Given the description of an element on the screen output the (x, y) to click on. 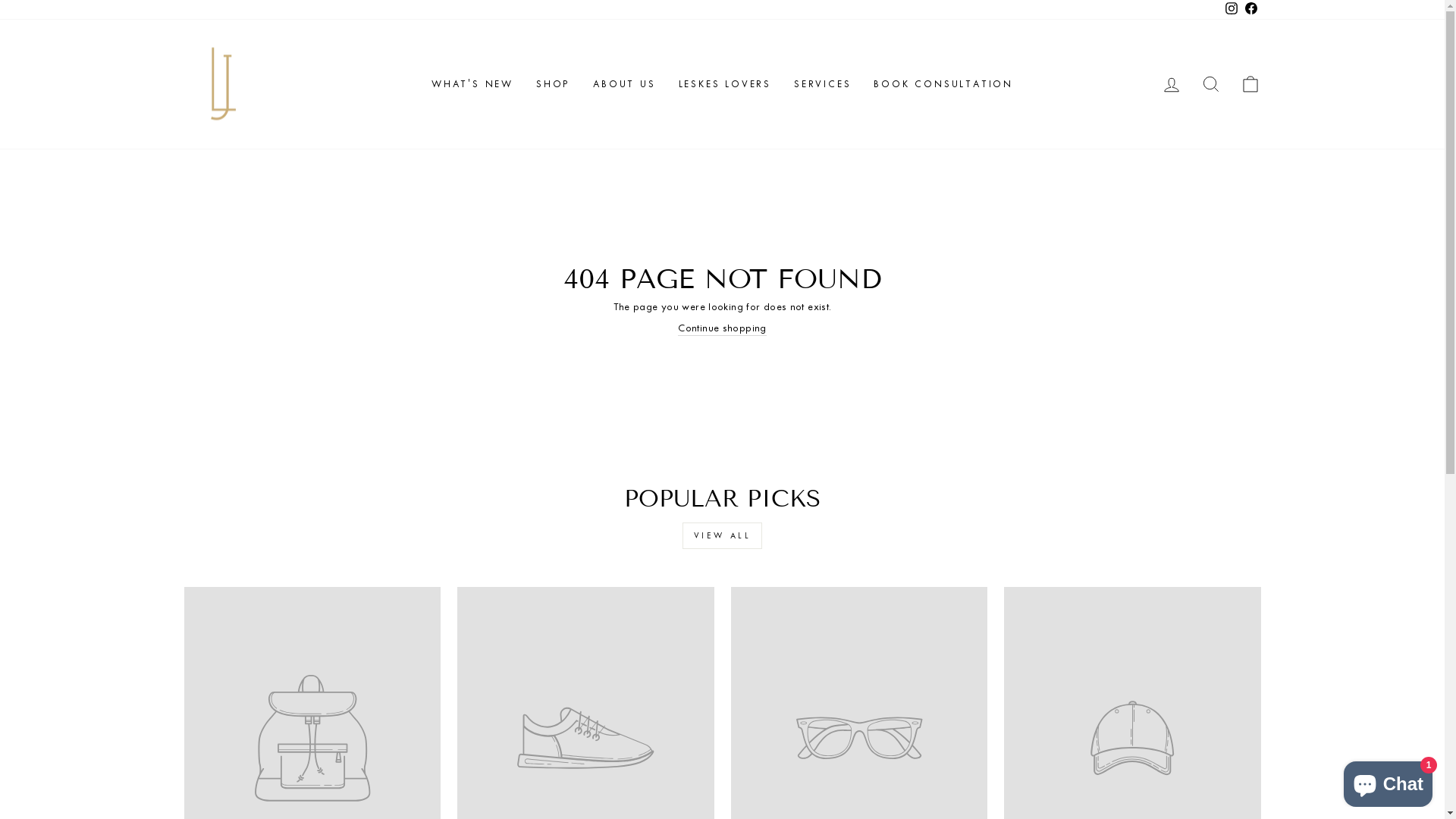
Shopify online store chat Element type: hover (1388, 780)
LESKES LOVERS Element type: text (724, 84)
Continue shopping Element type: text (721, 328)
SERVICES Element type: text (822, 84)
Instagram Element type: text (1230, 9)
BOOK CONSULTATION Element type: text (943, 84)
Facebook Element type: text (1250, 9)
SEARCH Element type: text (1210, 84)
ABOUT US Element type: text (623, 84)
SHOP Element type: text (552, 84)
LOG IN Element type: text (1170, 84)
CART Element type: text (1249, 84)
WHAT'S NEW Element type: text (472, 84)
VIEW ALL Element type: text (722, 535)
